Given the description of an element on the screen output the (x, y) to click on. 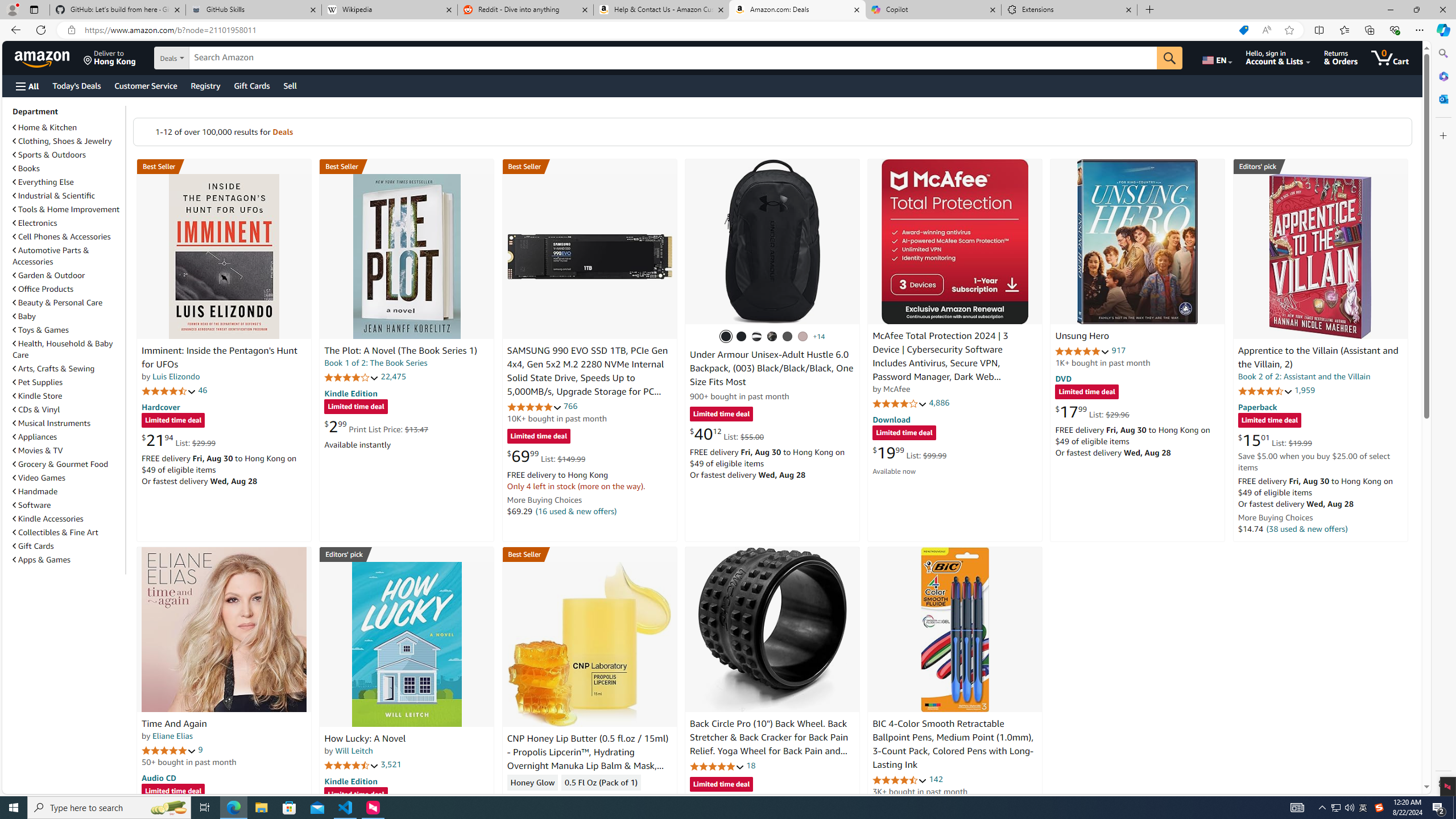
Returns & Orders (1340, 57)
Search Amazon (673, 57)
4.3 out of 5 stars (534, 799)
Best Seller in Internal Solid State Drives (589, 165)
Pet Supplies (37, 381)
Clothing, Shoes & Jewelry (62, 140)
Hardcover (160, 406)
(16 used & new offers) (576, 511)
Kindle Accessories (47, 518)
Video Games (67, 477)
+14 (818, 336)
Time And Again (224, 628)
The Plot: A Novel (The Book Series 1) (406, 256)
